Given the description of an element on the screen output the (x, y) to click on. 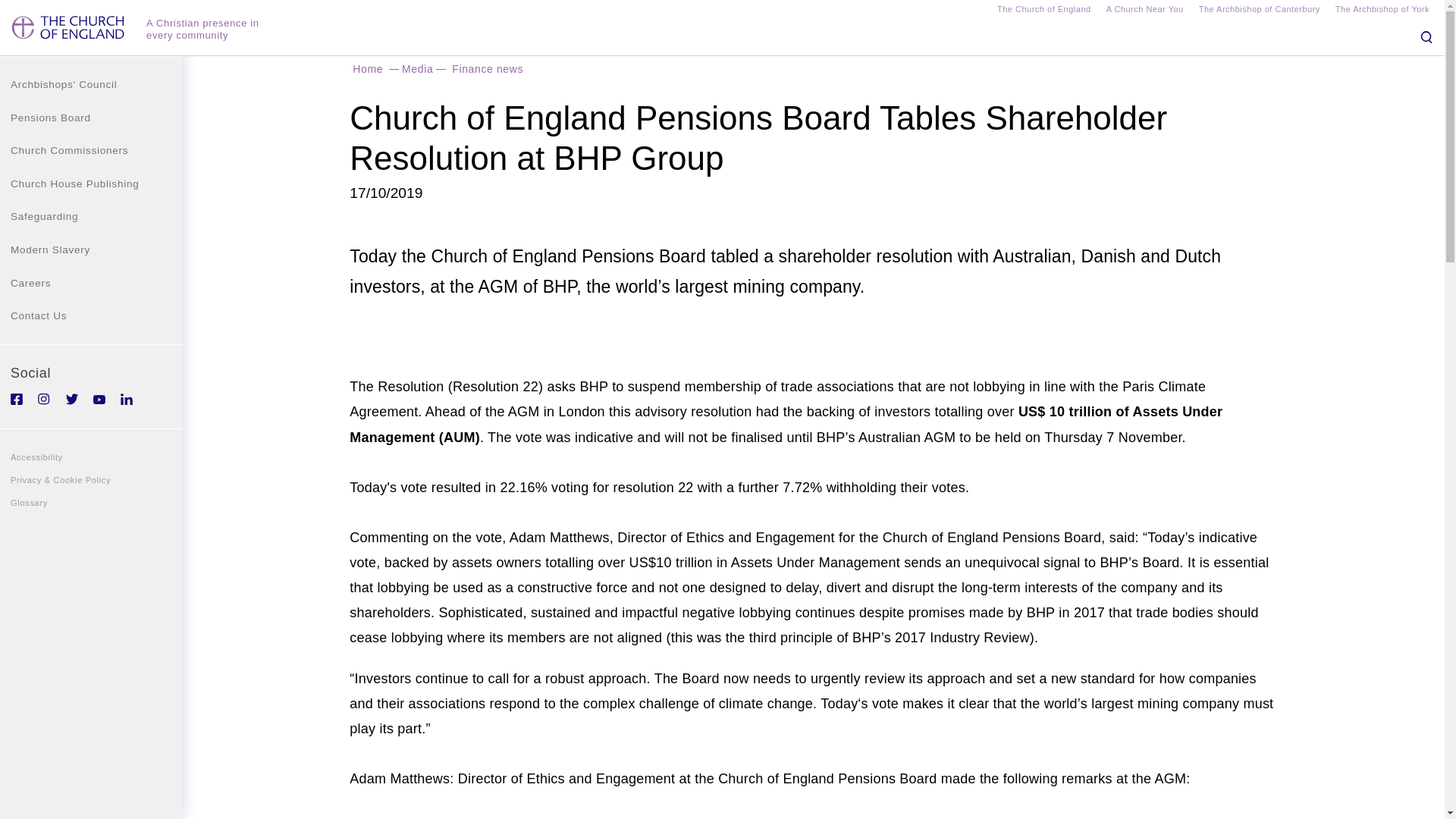
Archbishops' Council (91, 84)
Safeguarding (91, 216)
The Archbishop of Canterbury (1259, 10)
Contact Us (91, 315)
Accessibility (91, 456)
The Archbishop of York (1382, 10)
Modern Slavery (91, 249)
The Church of England (1043, 10)
Home (367, 68)
Church House Publishing (91, 183)
Accessibility (91, 456)
Careers (91, 283)
Pensions Board (91, 118)
Church Commissioners (91, 150)
